Given the description of an element on the screen output the (x, y) to click on. 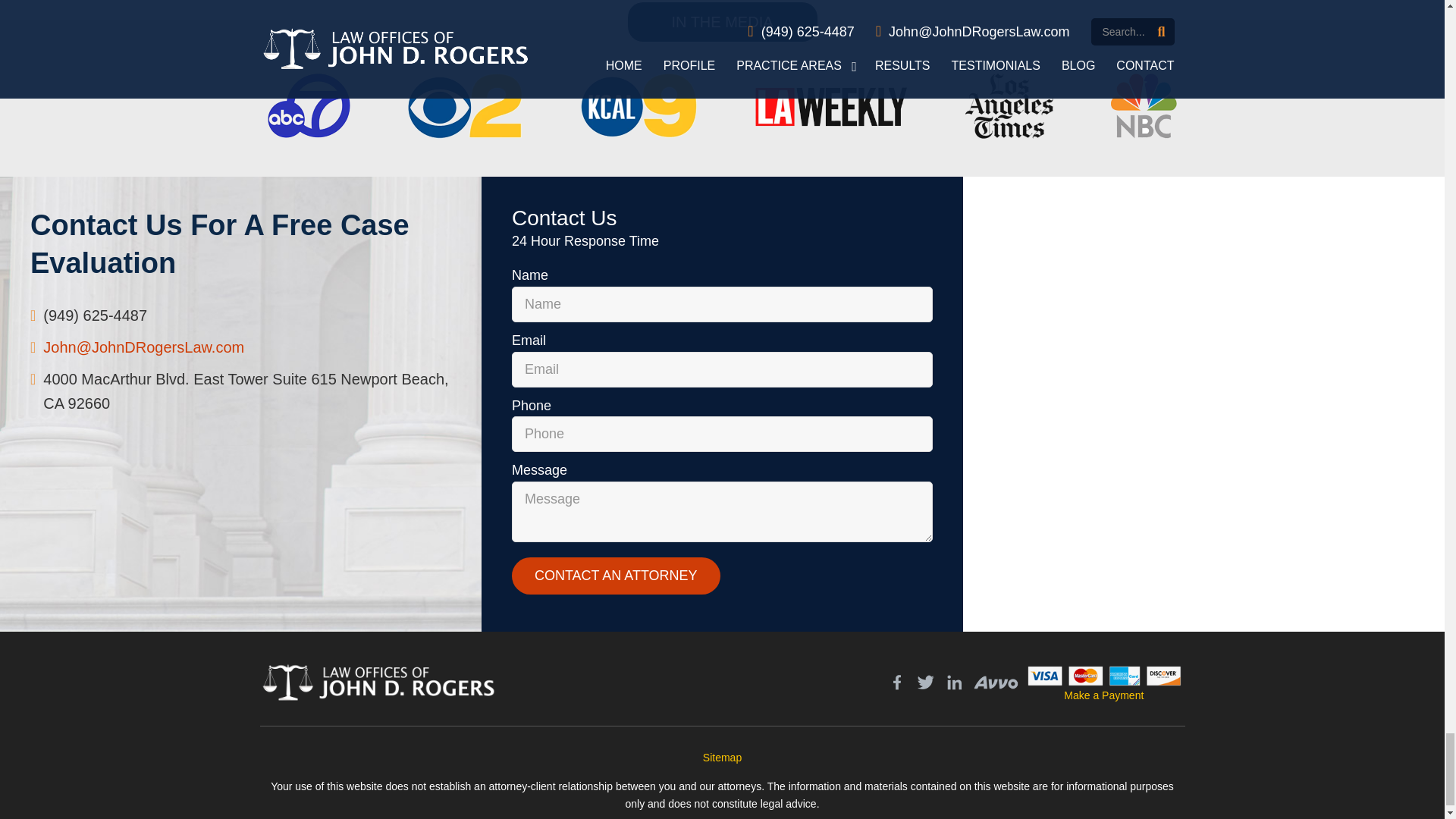
Contact an Attorney (616, 575)
